Given the description of an element on the screen output the (x, y) to click on. 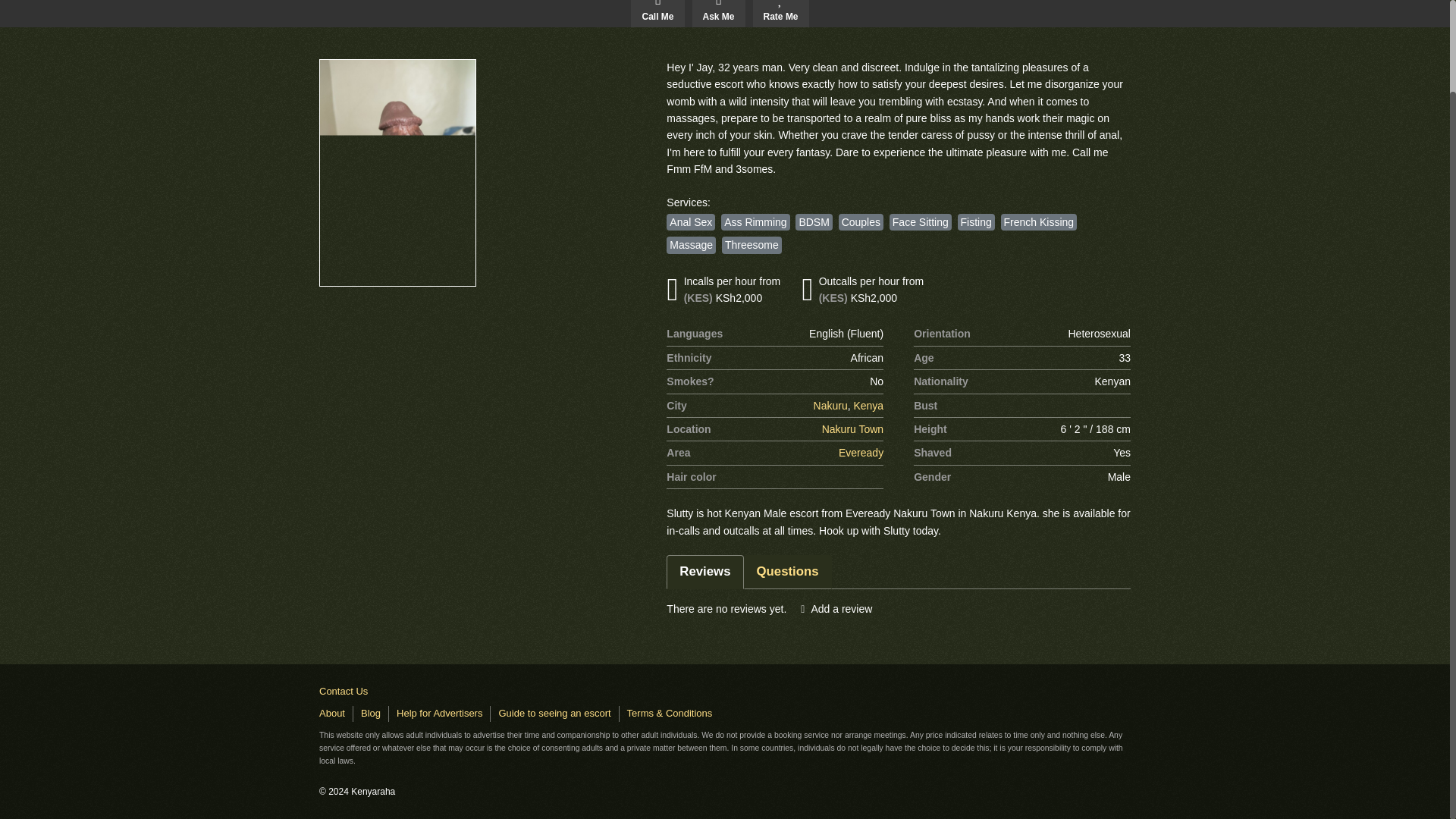
Reviews (704, 571)
About (331, 713)
Anal Sex (690, 221)
Call Me (657, 13)
Contact Us (343, 691)
Nakuru Town (852, 428)
Massage (691, 244)
Couples (860, 221)
BDSM (812, 221)
Kenya (868, 405)
Threesome (751, 244)
Face Sitting (920, 221)
Add a review (836, 608)
Ass Rimming (754, 221)
Ask Me (717, 13)
